Given the description of an element on the screen output the (x, y) to click on. 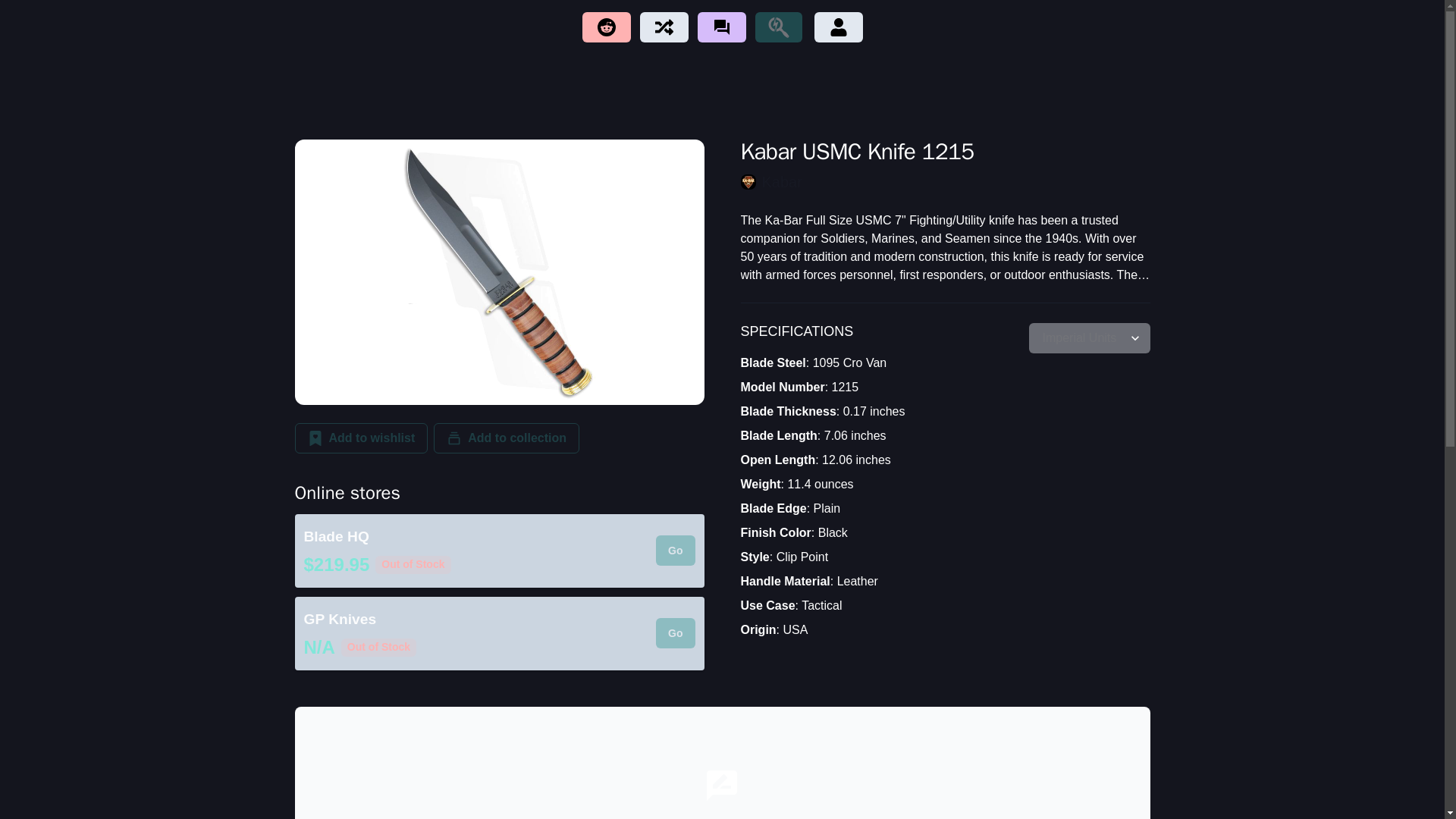
Go (675, 550)
Go (675, 633)
Kabar (944, 181)
Add to wishlist (361, 438)
Add to collection (506, 438)
